Given the description of an element on the screen output the (x, y) to click on. 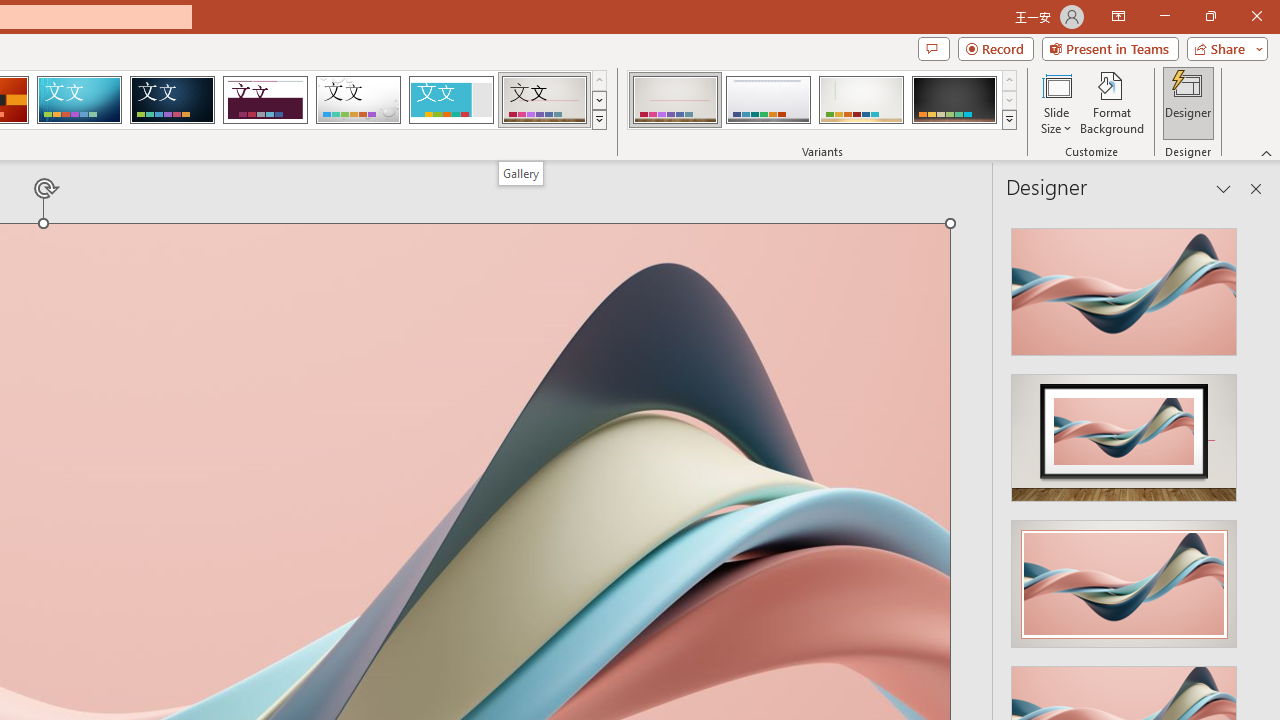
Gallery Variant 1 (674, 100)
Frame (450, 100)
